Given the description of an element on the screen output the (x, y) to click on. 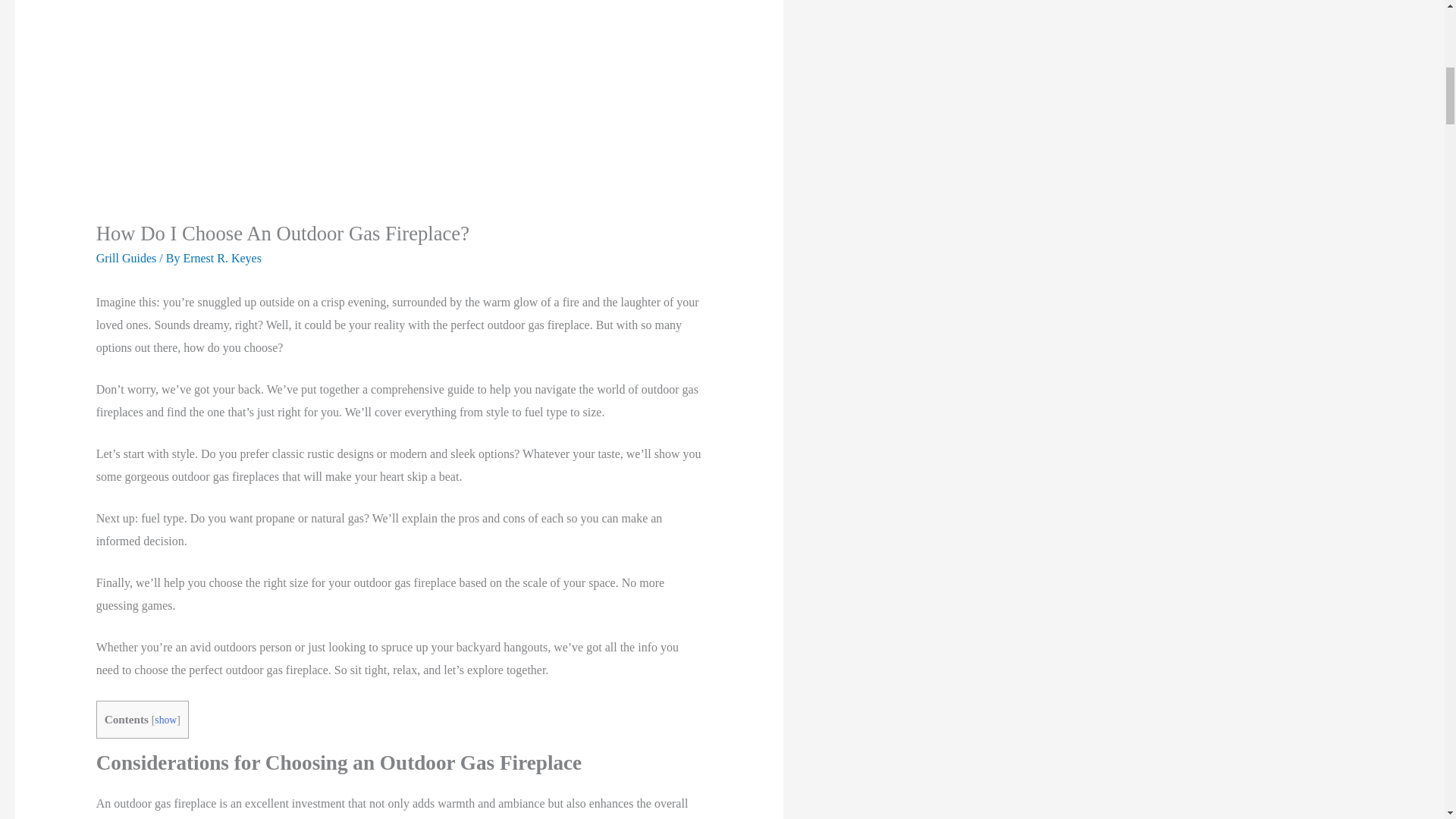
View all posts by Ernest R. Keyes (222, 257)
Grill Guides (126, 257)
show (165, 719)
Ernest R. Keyes (222, 257)
